Given the description of an element on the screen output the (x, y) to click on. 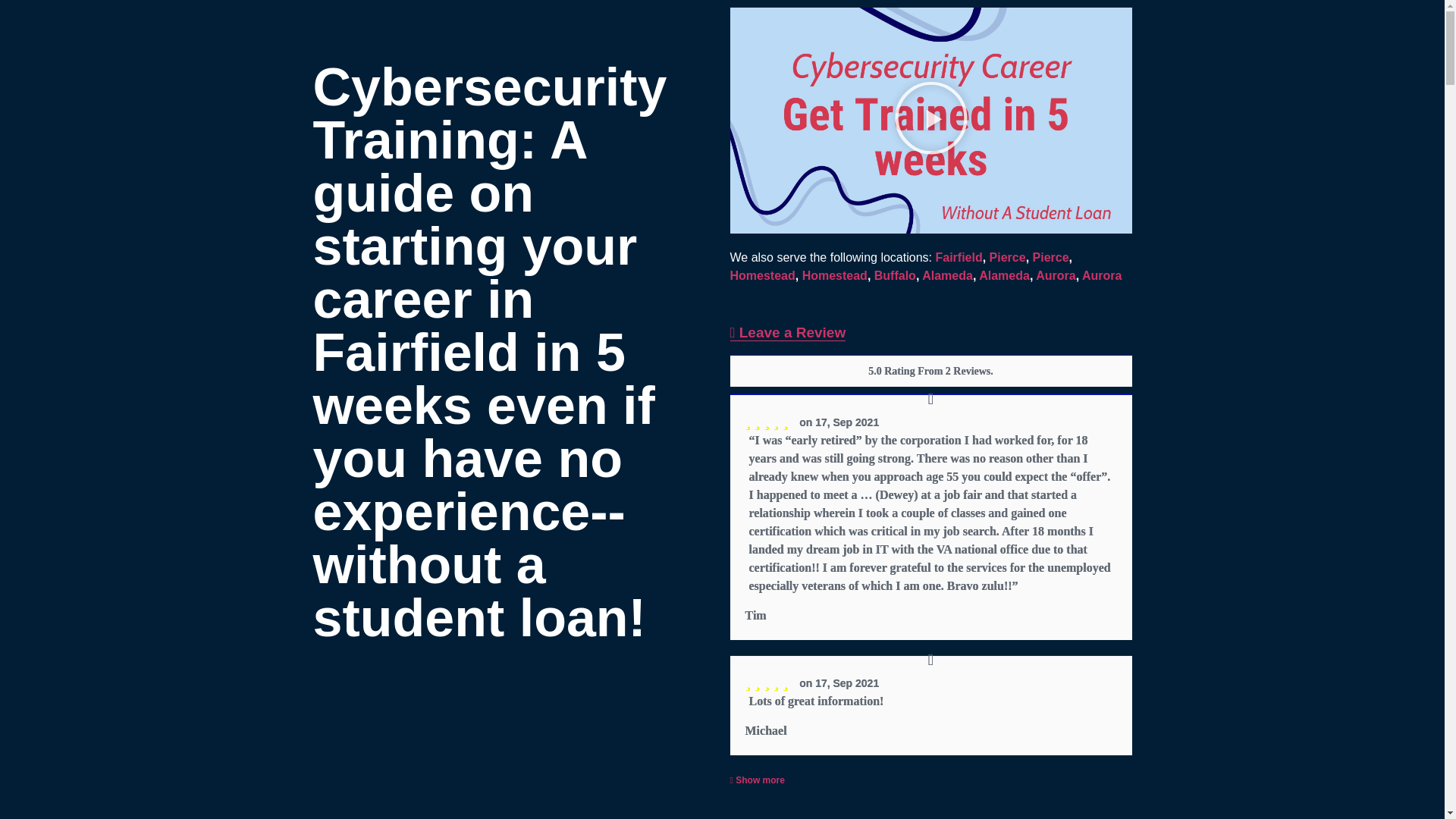
Homestead (761, 275)
Alameda (946, 275)
Buffalo (895, 275)
Alameda (1003, 275)
Aurora (1101, 275)
Pierce (1050, 256)
Homestead (834, 275)
Aurora (1055, 275)
Fairfield (957, 256)
Pierce (1008, 256)
Leave a Review (787, 332)
Show more (756, 779)
